Given the description of an element on the screen output the (x, y) to click on. 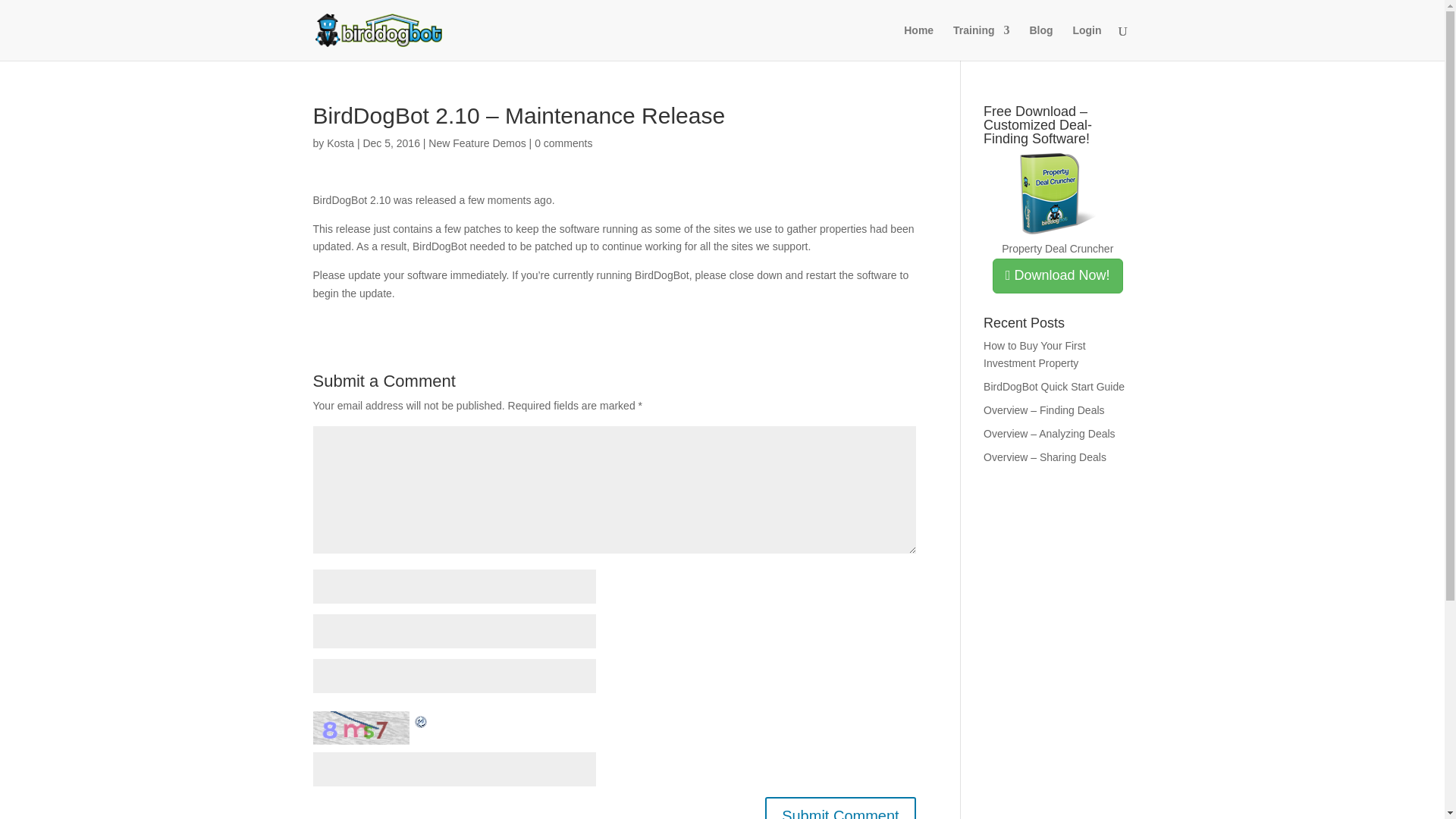
CAPTCHA (362, 727)
Submit Comment (840, 807)
BirdDogBot Quick Start Guide (1054, 386)
0 comments (563, 143)
Submit Comment (840, 807)
Training (981, 42)
Kosta (339, 143)
Posts by Kosta (339, 143)
New Feature Demos (476, 143)
Download Now! (1057, 275)
